Given the description of an element on the screen output the (x, y) to click on. 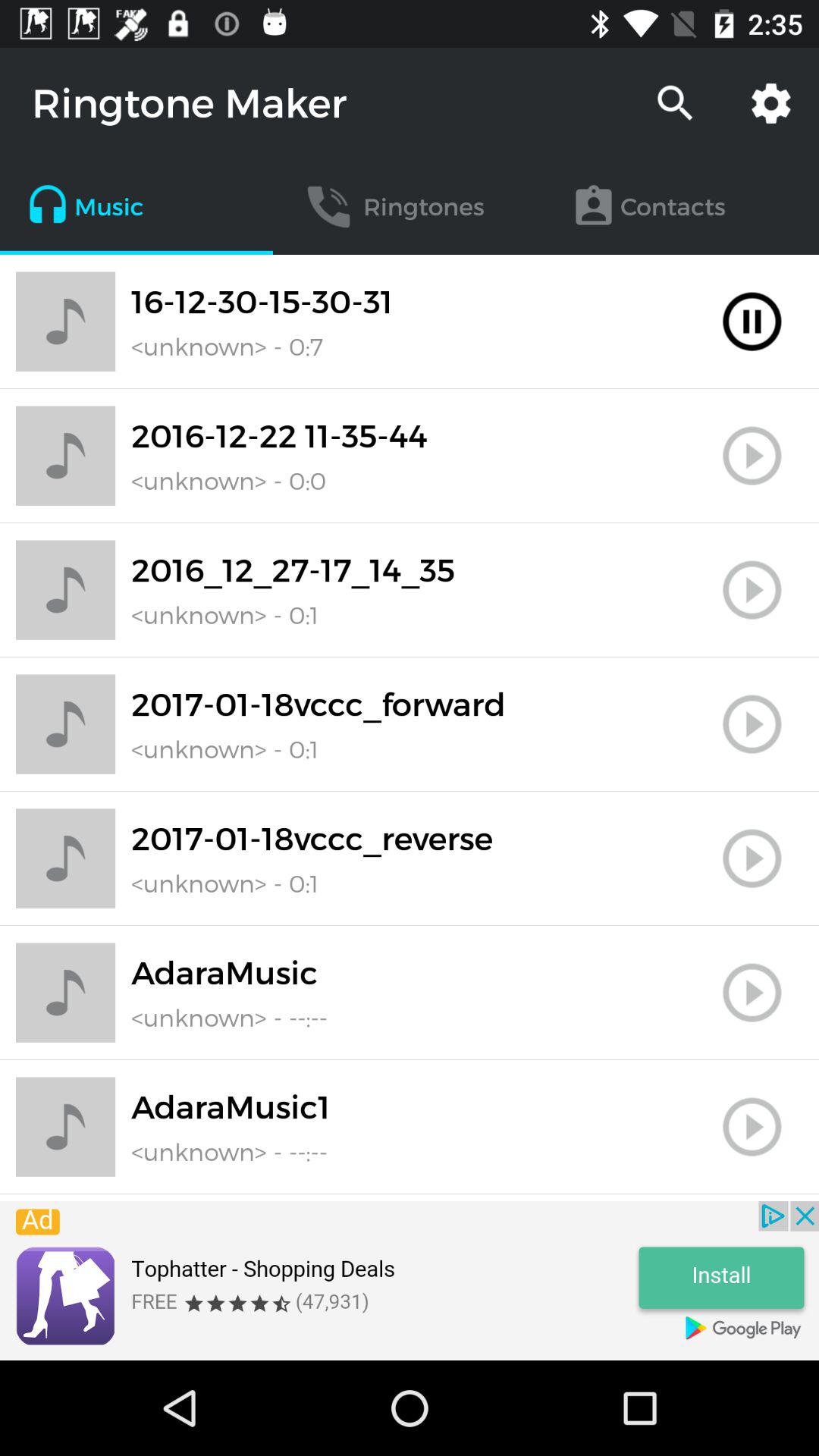
pause the ringtone (752, 321)
